Given the description of an element on the screen output the (x, y) to click on. 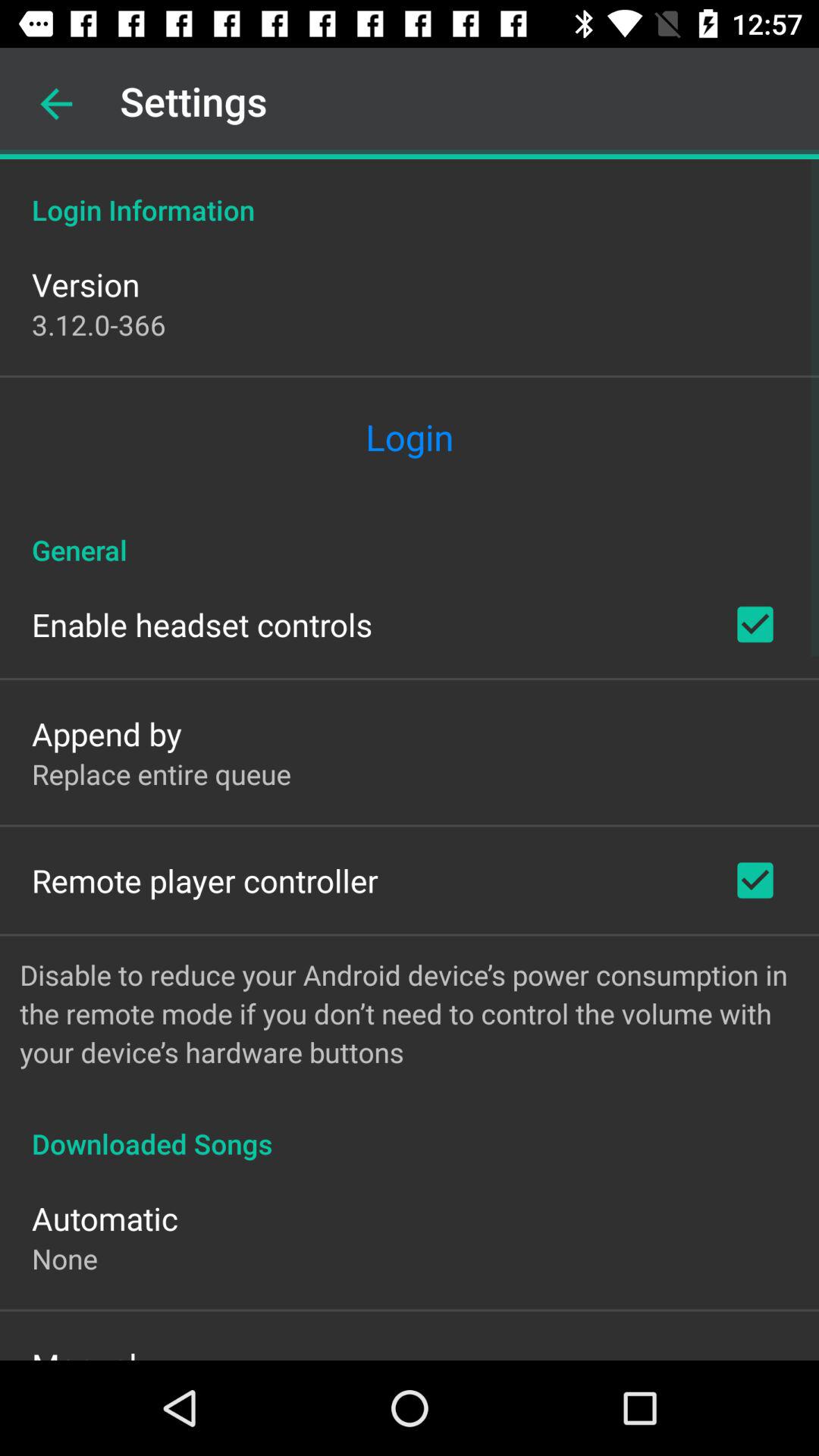
choose item below downloaded songs (104, 1217)
